Given the description of an element on the screen output the (x, y) to click on. 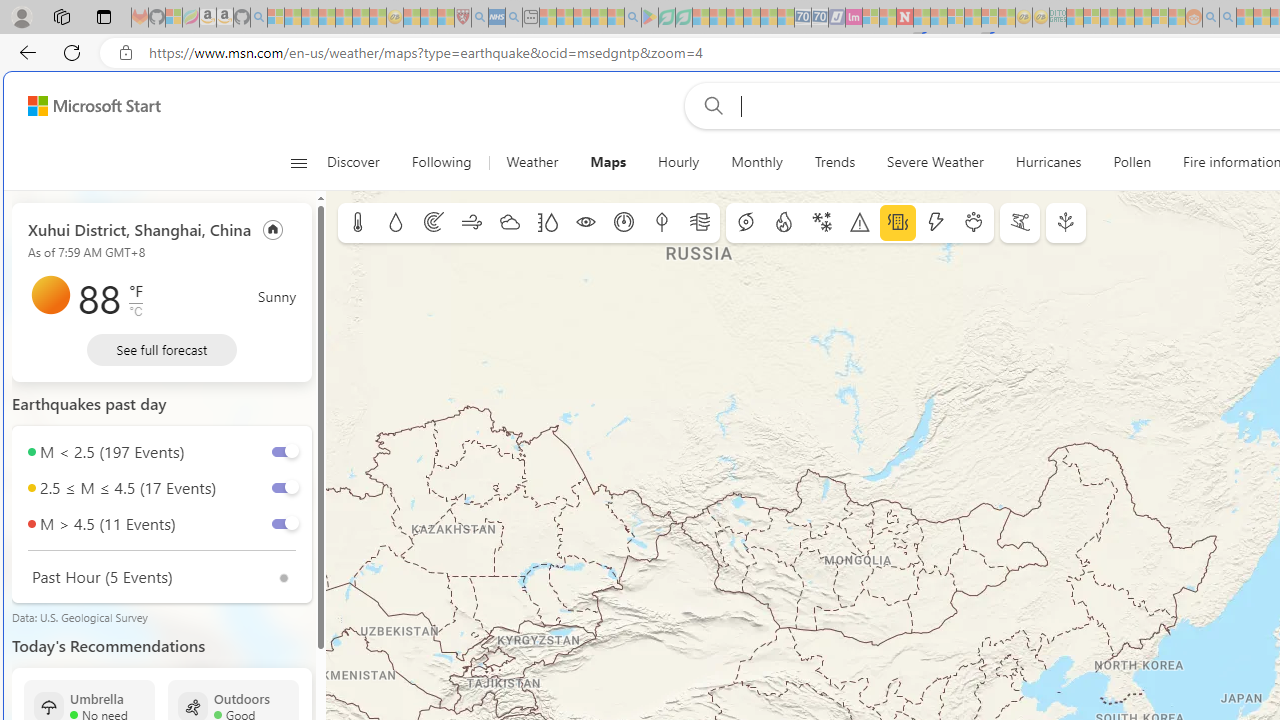
Trusted Community Engagement and Contributions | Guidelines (921, 17)
Pets - MSN - Sleeping (598, 17)
Hurricanes (1048, 162)
14 Common Myths Debunked By Scientific Facts - Sleeping (938, 17)
Discover (353, 162)
Maps (608, 162)
Skip to content (86, 105)
Pollen (1131, 162)
Expert Portfolios - Sleeping (1125, 17)
Microsoft Start - Sleeping (1244, 17)
Class: button-glyph (298, 162)
